Given the description of an element on the screen output the (x, y) to click on. 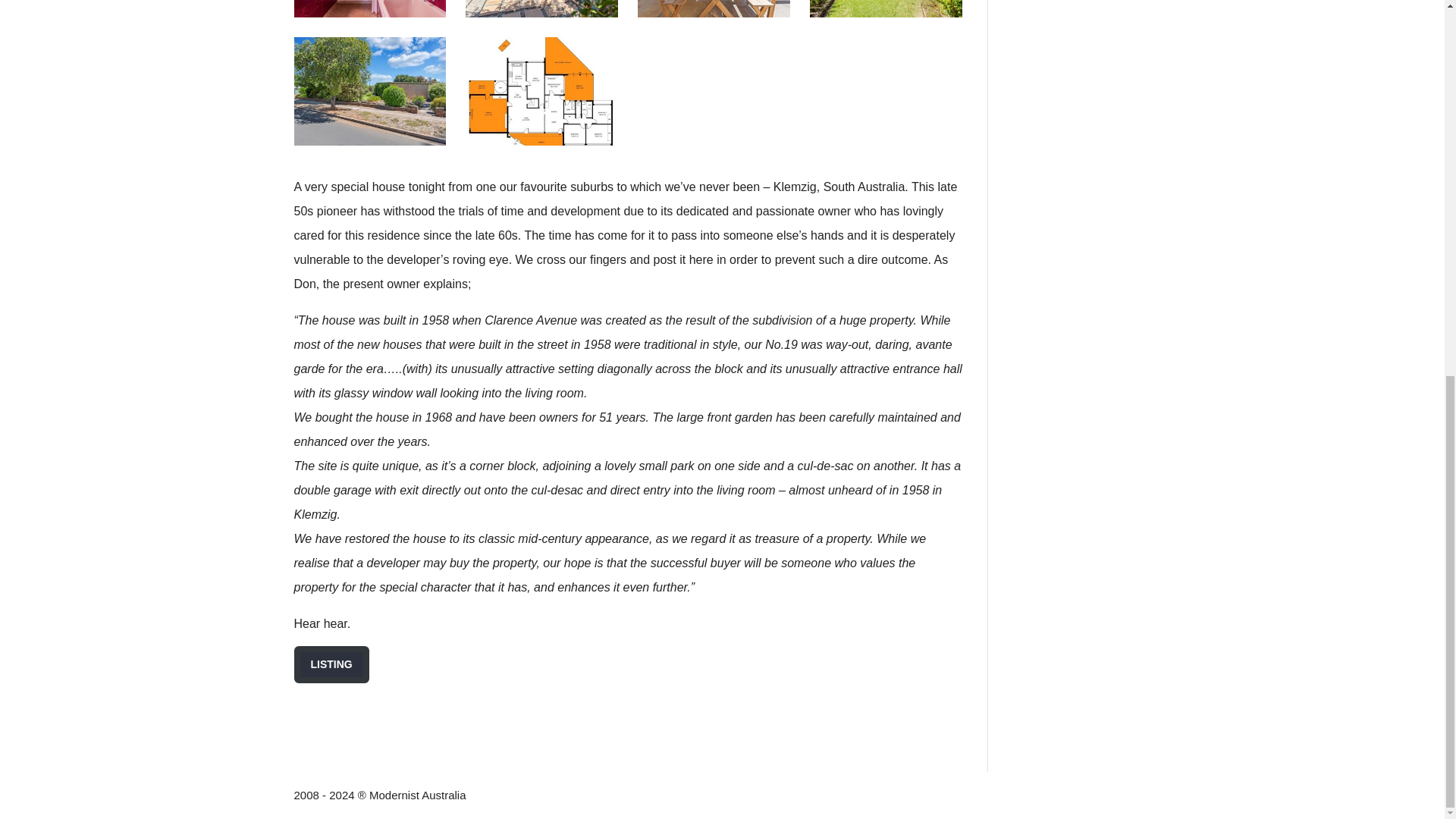
LISTING (331, 664)
